Given the description of an element on the screen output the (x, y) to click on. 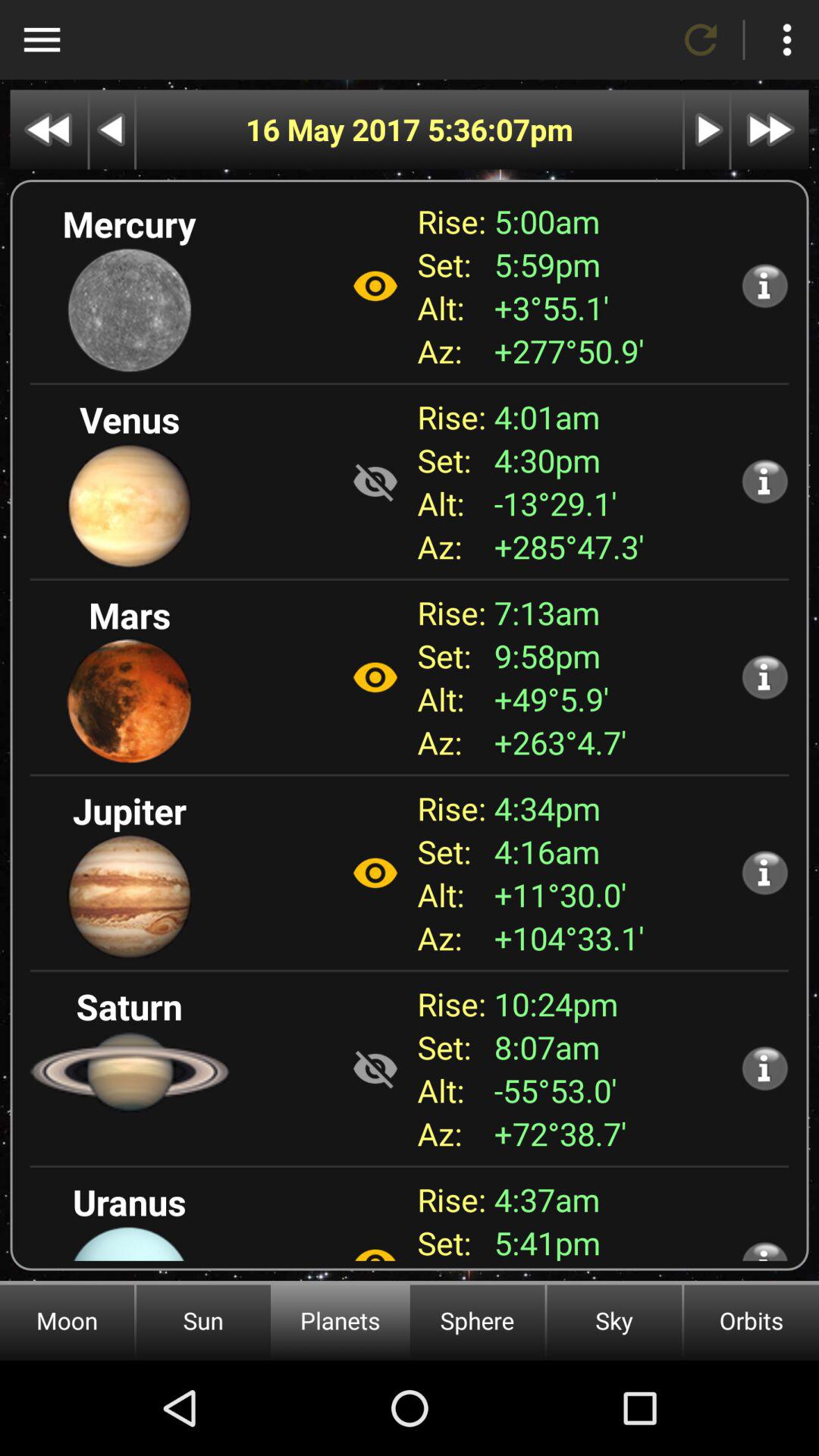
more information (764, 285)
